Given the description of an element on the screen output the (x, y) to click on. 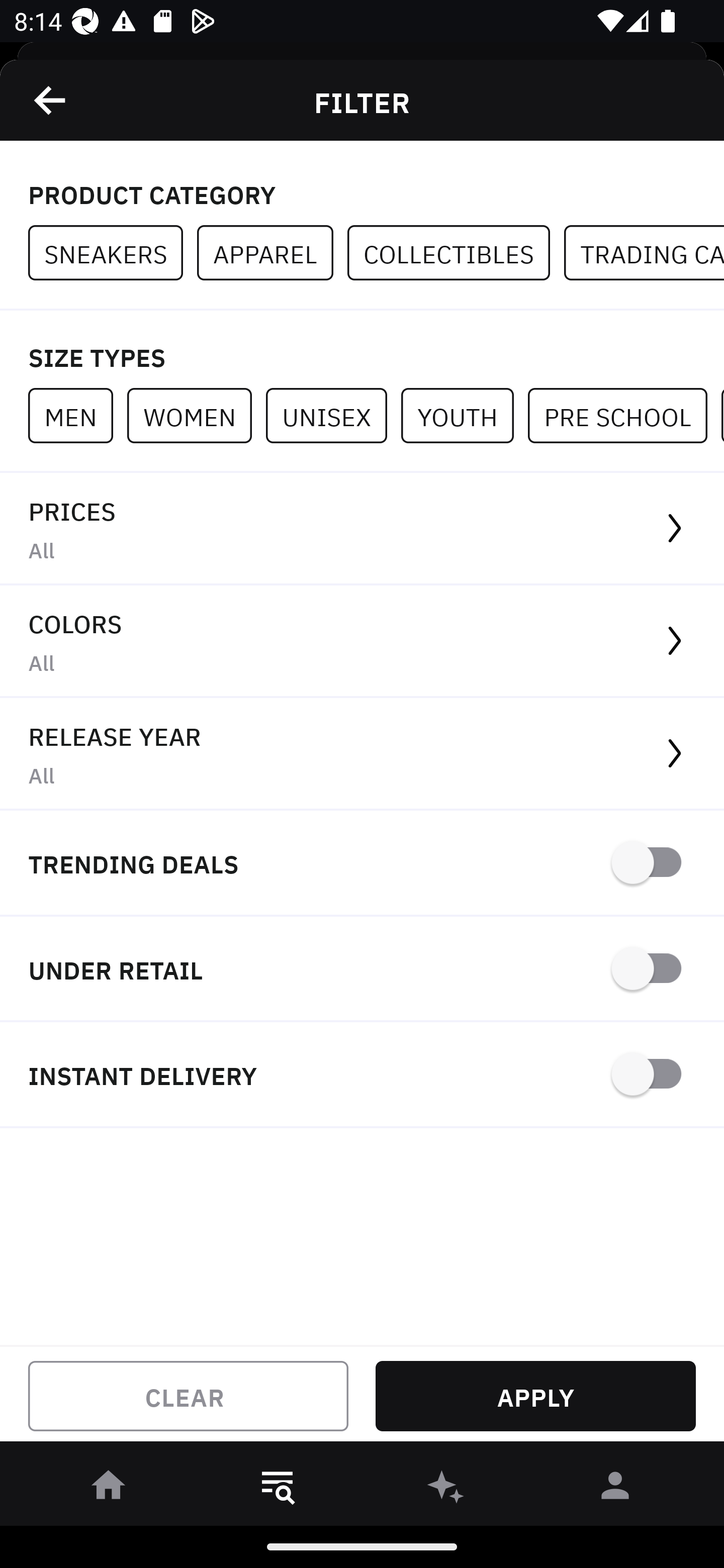
 (50, 100)
SNEAKERS (112, 252)
APPAREL (271, 252)
COLLECTIBLES (455, 252)
TRADING CARDS (643, 252)
MEN (77, 415)
WOMEN (196, 415)
UNISEX (333, 415)
YOUTH (464, 415)
PRE SCHOOL (624, 415)
PRICES All (362, 528)
COLORS All (362, 640)
RELEASE YEAR All (362, 753)
TRENDING DEALS (362, 863)
UNDER RETAIL (362, 969)
INSTANT DELIVERY (362, 1075)
CLEAR  (188, 1396)
APPLY (535, 1396)
󰋜 (108, 1488)
󱎸 (277, 1488)
󰫢 (446, 1488)
󰀄 (615, 1488)
